Given the description of an element on the screen output the (x, y) to click on. 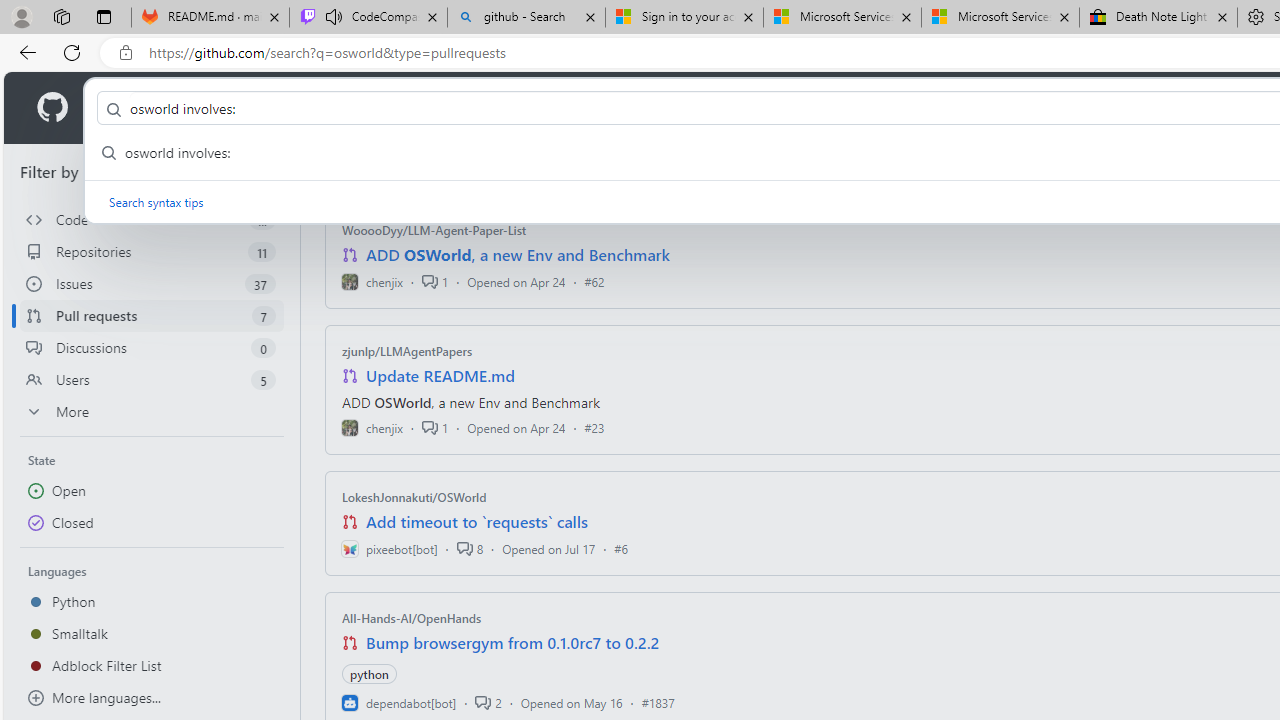
Pricing (649, 107)
chenjix (372, 427)
More languages... (152, 697)
Solutions (225, 107)
#23 (594, 427)
Open Source (446, 107)
Microsoft Services Agreement (1000, 17)
